Given the description of an element on the screen output the (x, y) to click on. 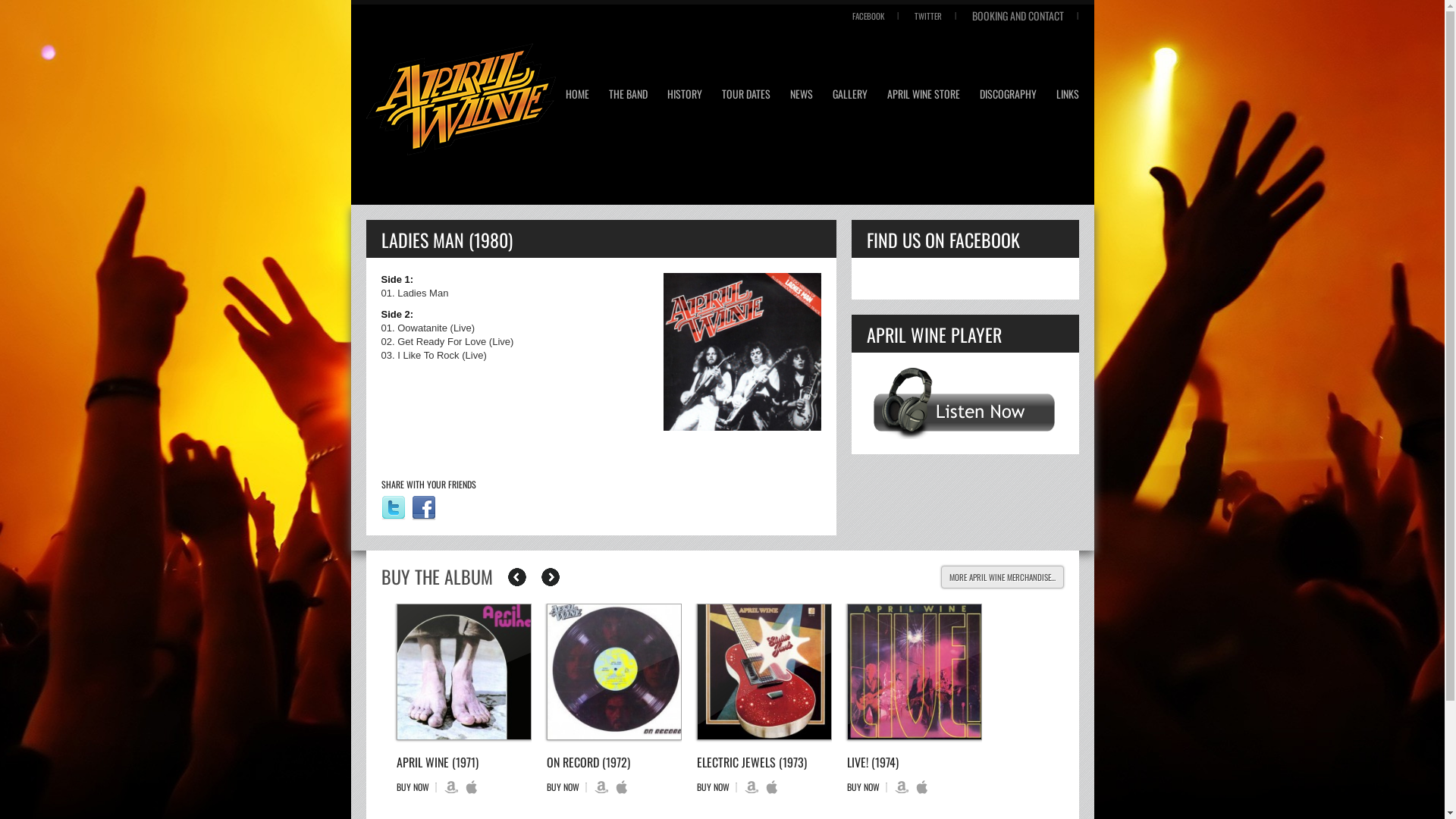
NEWS Element type: text (801, 95)
LIVE! (1974) Element type: text (871, 762)
DISCOGRAPHY Element type: text (1007, 95)
Return to Home Page Element type: hover (460, 100)
THE BAND Element type: text (627, 95)
HOME Element type: text (577, 95)
  Element type: text (913, 671)
  Element type: text (613, 671)
TOUR DATES Element type: text (745, 95)
LINKS Element type: text (1066, 95)
GALLERY Element type: text (849, 95)
  Element type: text (763, 671)
ELECTRIC JEWELS (1973) Element type: text (751, 762)
  Element type: text (462, 671)
FACEBOOK Element type: text (868, 15)
  Element type: text (517, 576)
APRIL WINE STORE Element type: text (923, 95)
MORE APRIL WINE MERCHANDISE... Element type: text (1001, 576)
APRIL WINE (1971) Element type: text (436, 762)
HISTORY Element type: text (684, 95)
BOOKING AND CONTACT Element type: text (1017, 15)
  Element type: text (550, 576)
TWITTER Element type: text (927, 15)
ON RECORD (1972) Element type: text (587, 762)
